Given the description of an element on the screen output the (x, y) to click on. 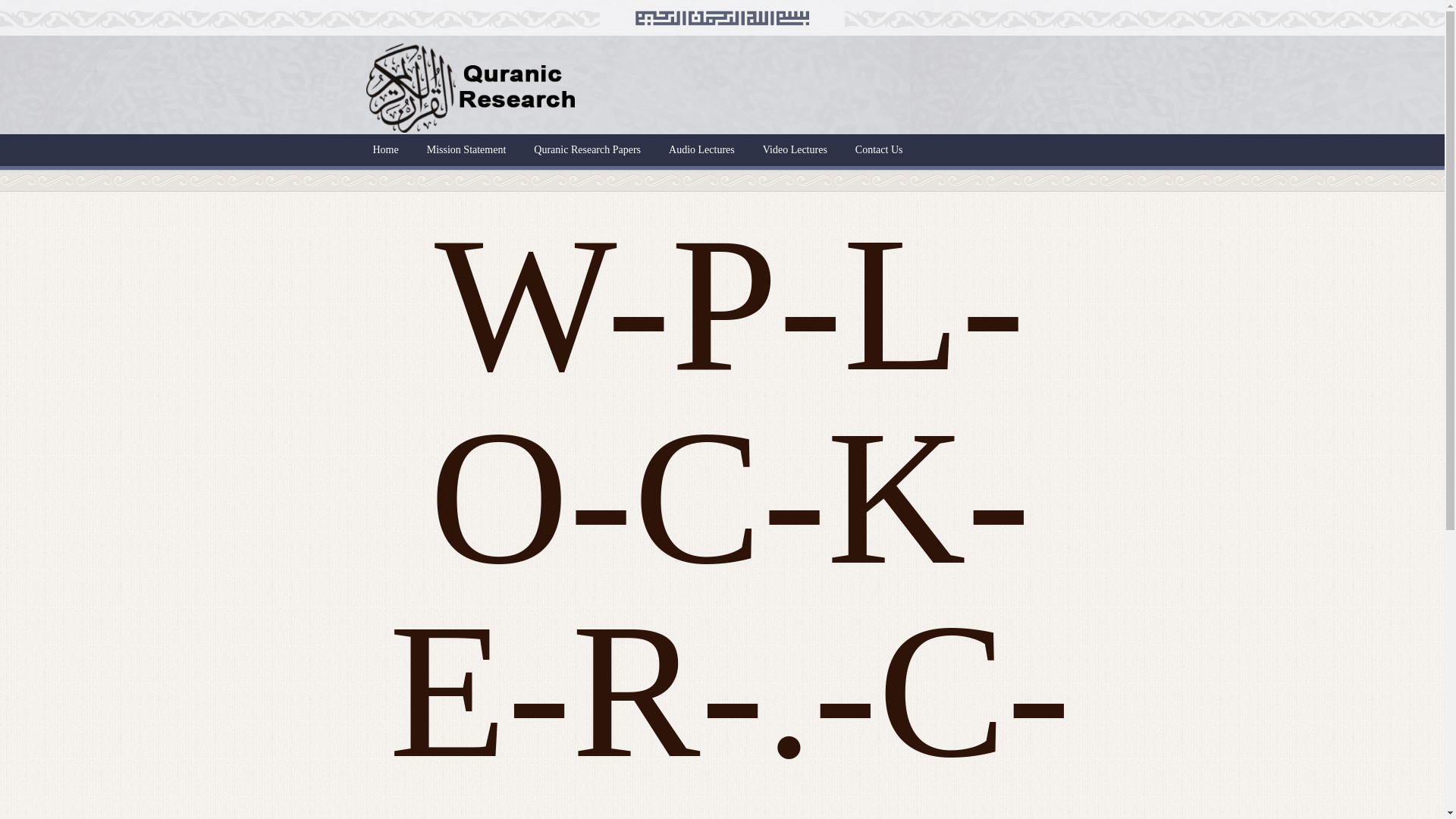
Audio Lectures (701, 150)
Contact Us (879, 150)
Quranic Research Papers (586, 150)
Mission Statement (466, 150)
Home (385, 150)
Video Lectures (795, 150)
